Given the description of an element on the screen output the (x, y) to click on. 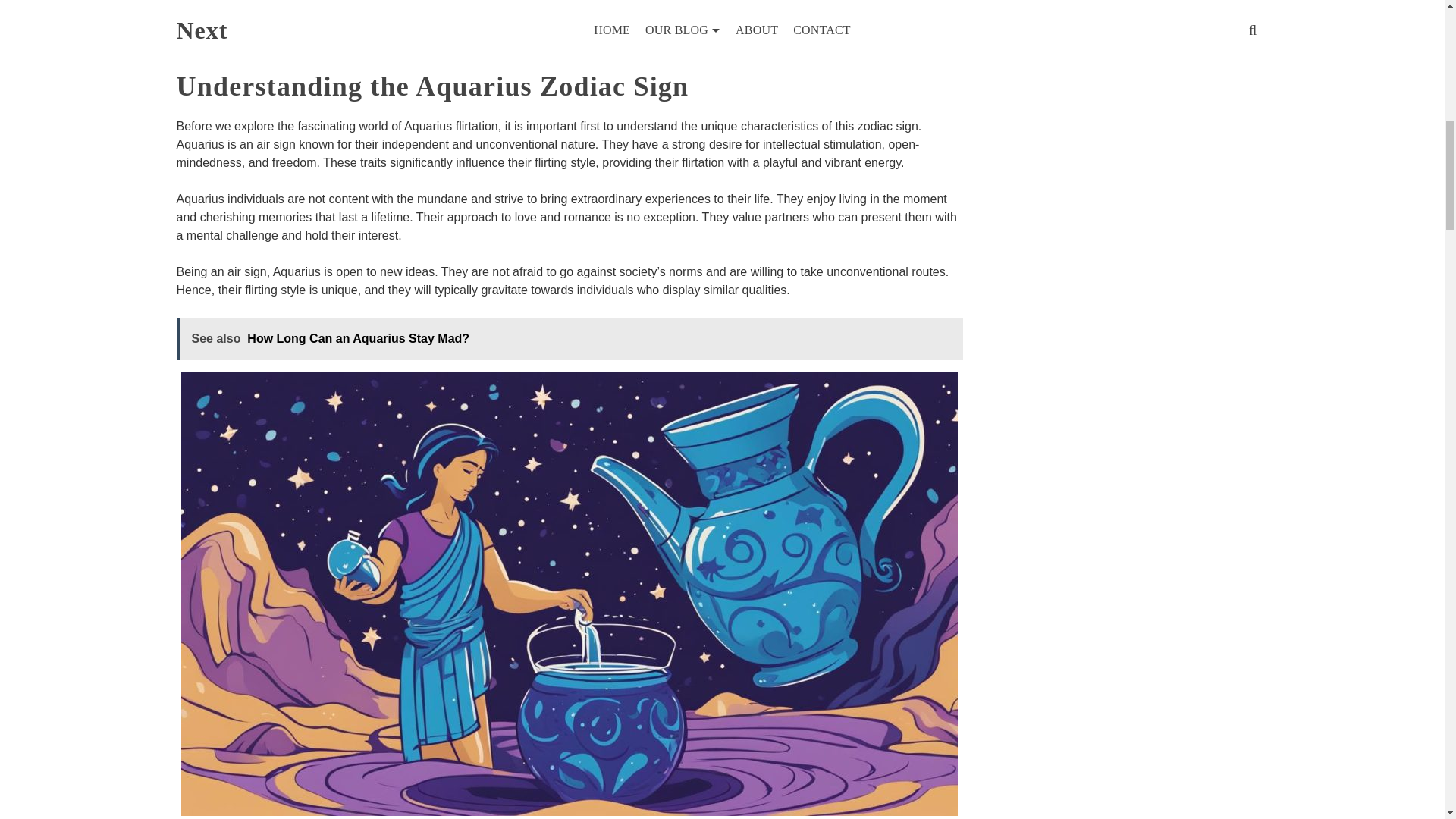
See also  How Long Can an Aquarius Stay Mad? (569, 338)
